Given the description of an element on the screen output the (x, y) to click on. 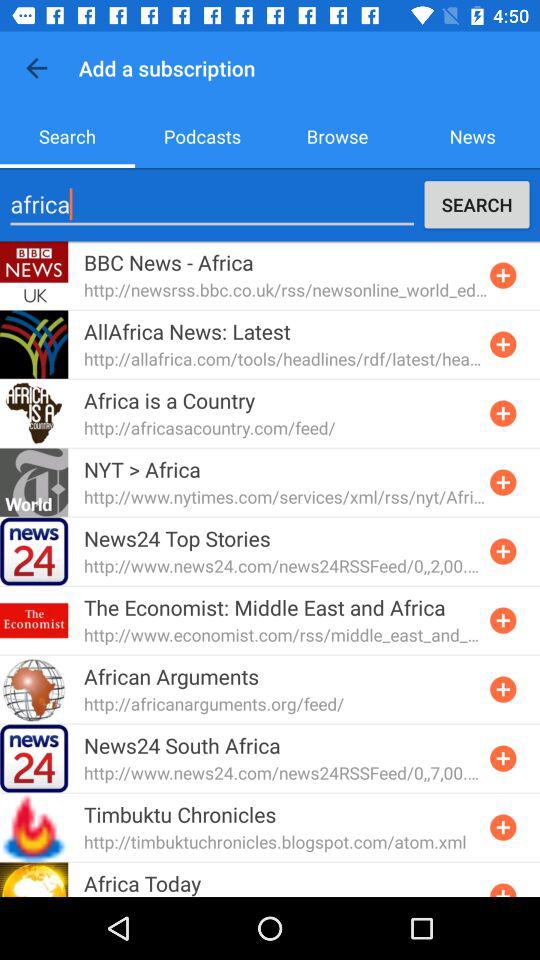
turn off icon next to the add a subscription (36, 68)
